Given the description of an element on the screen output the (x, y) to click on. 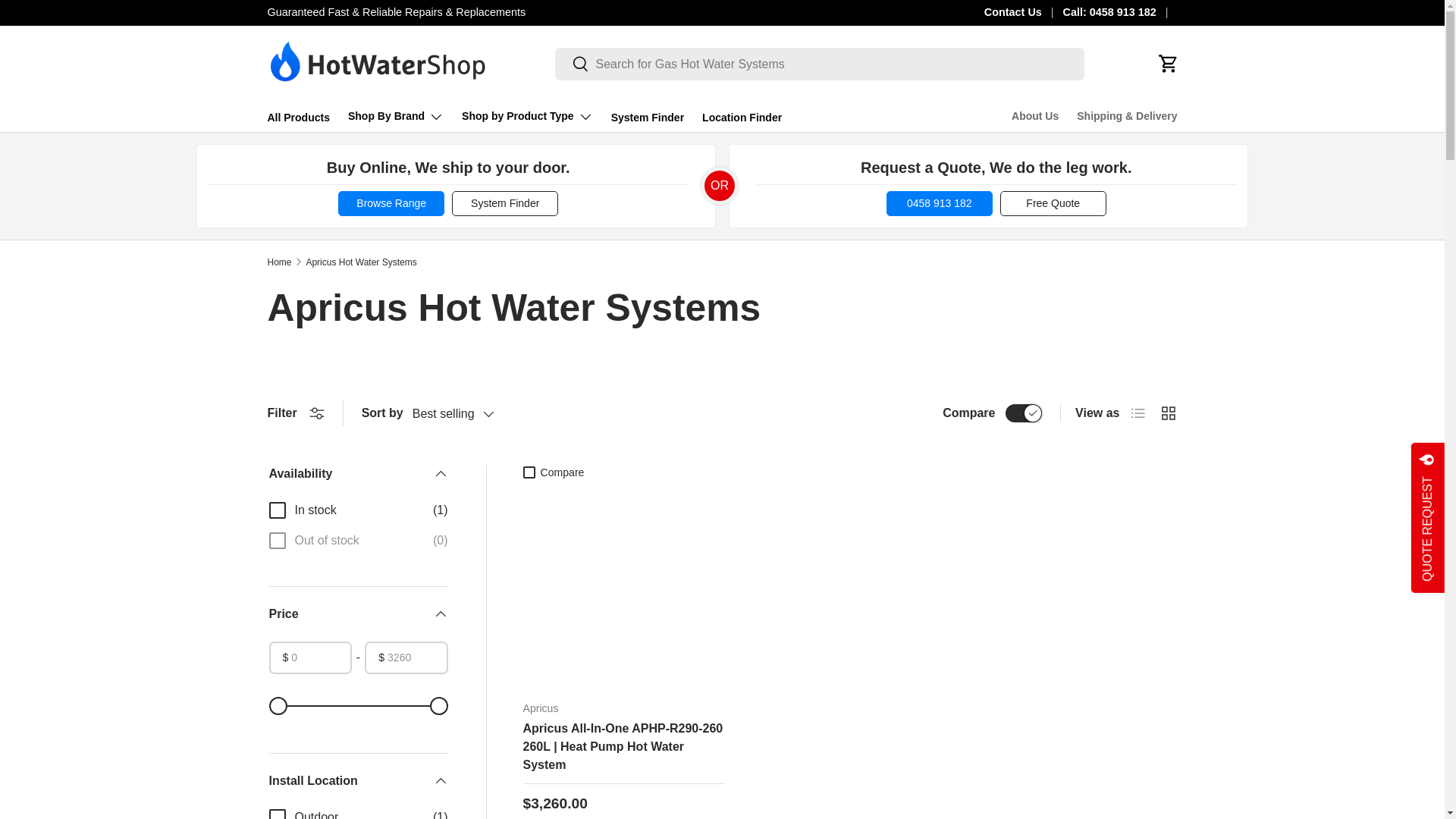
Skip to content (69, 21)
0 (357, 705)
3260 (357, 705)
Contact Us (1023, 12)
Call: 0458 913 182 (1119, 12)
Search (571, 64)
Shop By Brand (395, 116)
Cart (1168, 63)
All Products (297, 117)
